Given the description of an element on the screen output the (x, y) to click on. 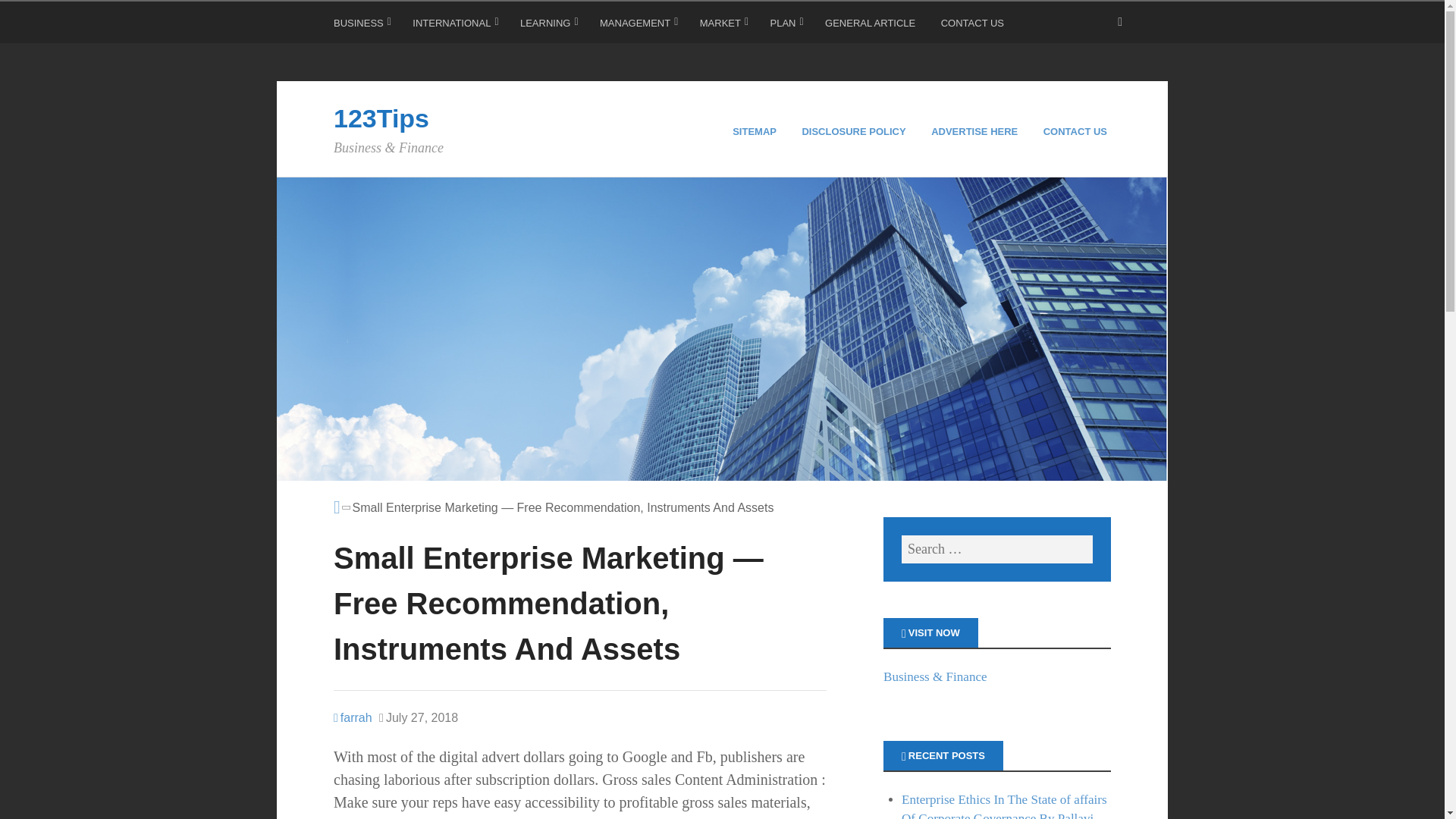
SITEMAP (756, 131)
BUSINESS (362, 26)
123Tips (381, 118)
farrah (352, 717)
INTERNATIONAL (454, 26)
CONTACT US (973, 26)
CONTACT US (1076, 131)
LEARNING (548, 26)
ADVERTISE HERE (976, 131)
GENERAL ARTICLE (871, 26)
Search (30, 15)
DISCLOSURE POLICY (855, 131)
MARKET (724, 26)
Posts by farrah (352, 717)
MANAGEMENT (638, 26)
